Given the description of an element on the screen output the (x, y) to click on. 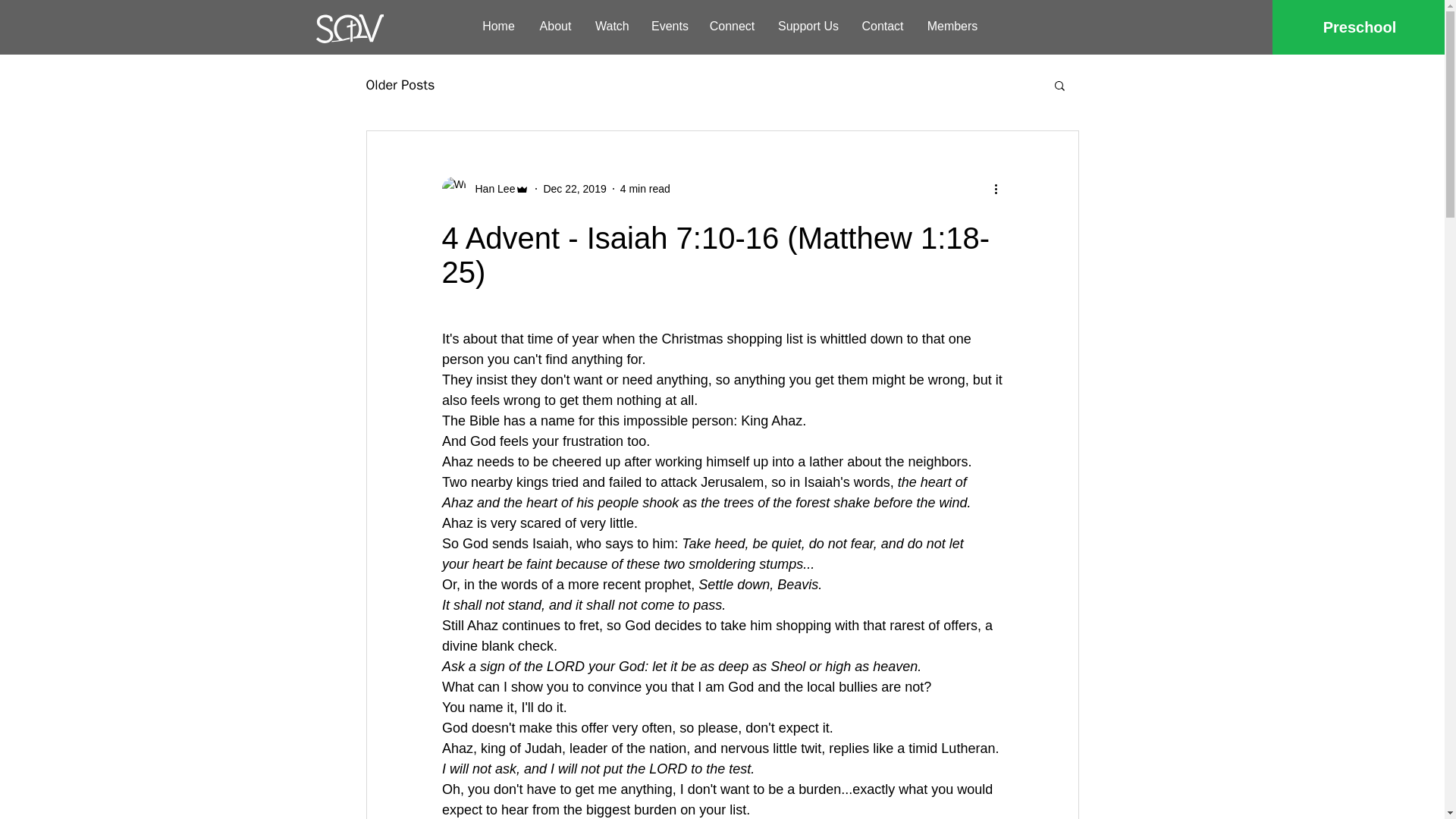
Contact (882, 26)
Older Posts (399, 85)
Events (668, 26)
4 min read (644, 187)
Watch (611, 26)
Dec 22, 2019 (574, 187)
Han Lee (490, 188)
About (555, 26)
Members (952, 26)
Connect (732, 26)
Support Us (808, 26)
Home (498, 26)
Han Lee (485, 188)
